Given the description of an element on the screen output the (x, y) to click on. 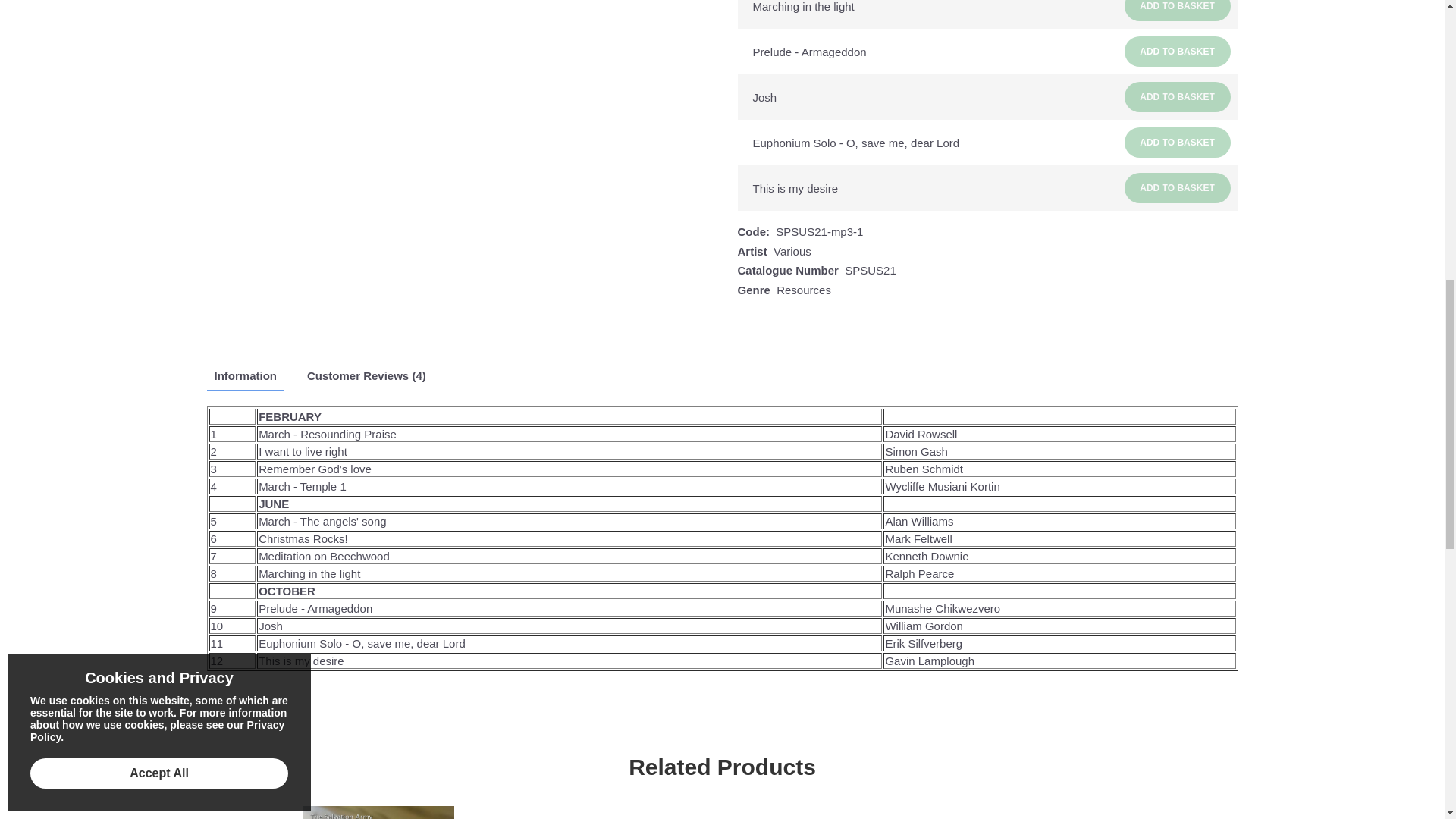
Information (244, 375)
ADD TO BASKET (1177, 96)
ADD TO BASKET (1177, 187)
ADD TO BASKET (1177, 142)
ADD TO BASKET (1177, 10)
ADD TO BASKET (1177, 51)
